Given the description of an element on the screen output the (x, y) to click on. 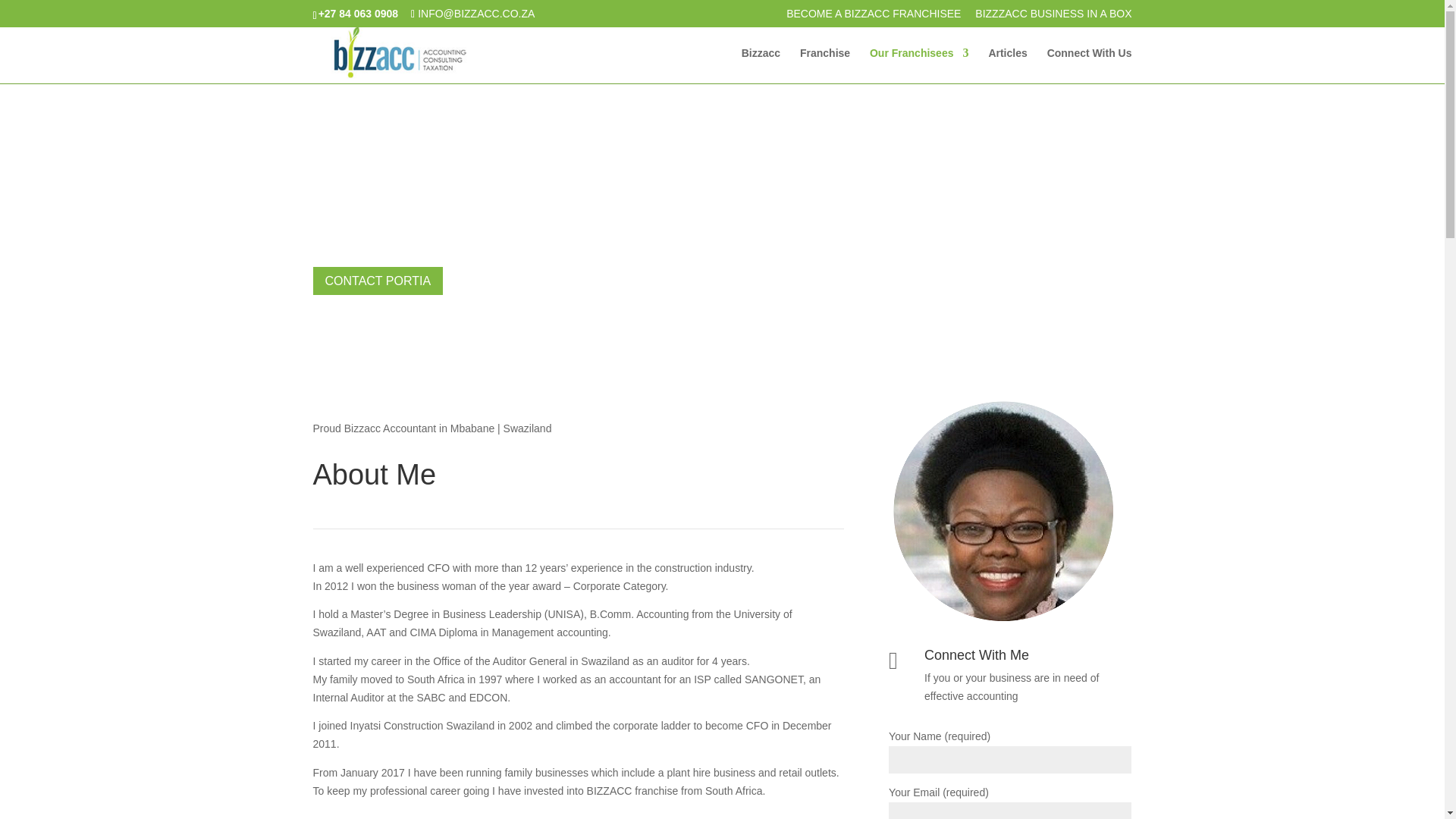
Articles (1007, 65)
CONTACT PORTIA (377, 280)
Franchise (824, 65)
BIZZZACC BUSINESS IN A BOX (1053, 16)
Connect With Us (1089, 65)
Bizzacc (760, 65)
Our Franchisees (919, 65)
BECOME A BIZZACC FRANCHISEE (873, 16)
